Given the description of an element on the screen output the (x, y) to click on. 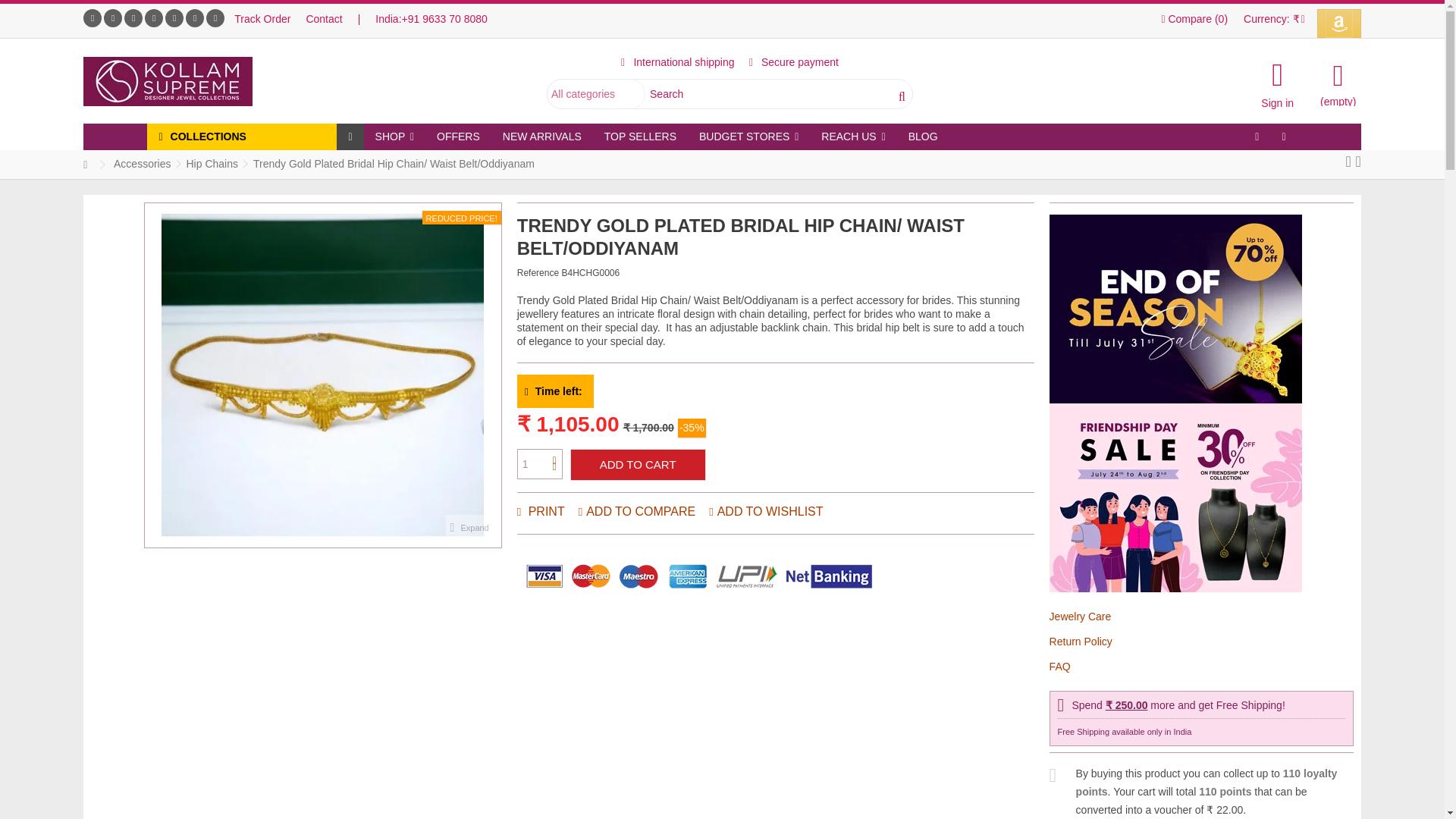
Youtube (132, 18)
Contact (323, 19)
1 (539, 463)
Contact (323, 19)
View my shopping cart (1337, 82)
Tumblr (194, 18)
Facebook (91, 18)
RSS (215, 18)
Twitter (112, 18)
Instagram (174, 18)
Sign in with Amazon (1339, 23)
Track Order (261, 19)
SHOP (394, 136)
Pinterest (153, 18)
